Given the description of an element on the screen output the (x, y) to click on. 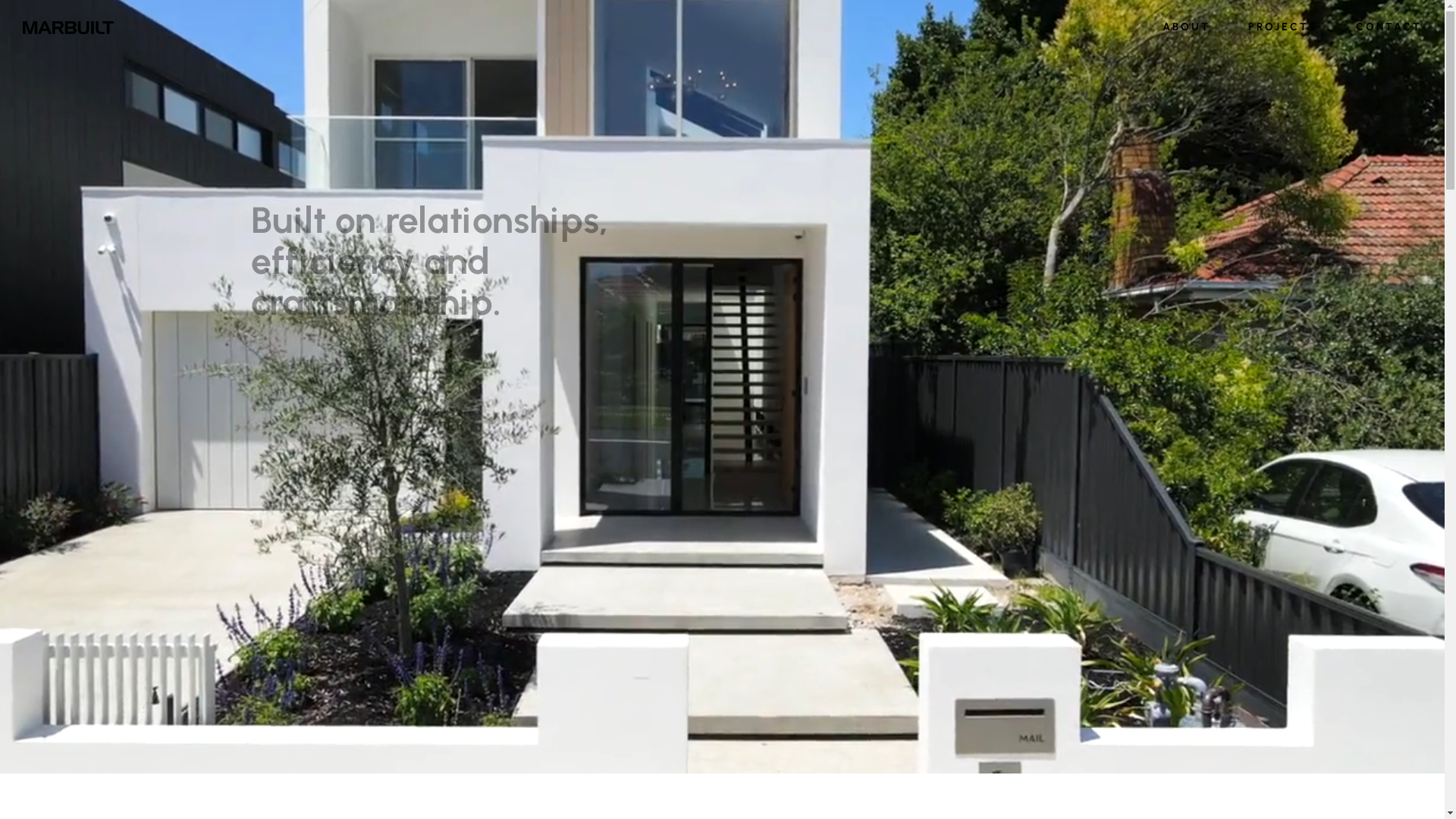
ABOUT Element type: text (1186, 27)
PROJECTS Element type: text (1282, 27)
CONTACT Element type: text (1378, 27)
